Given the description of an element on the screen output the (x, y) to click on. 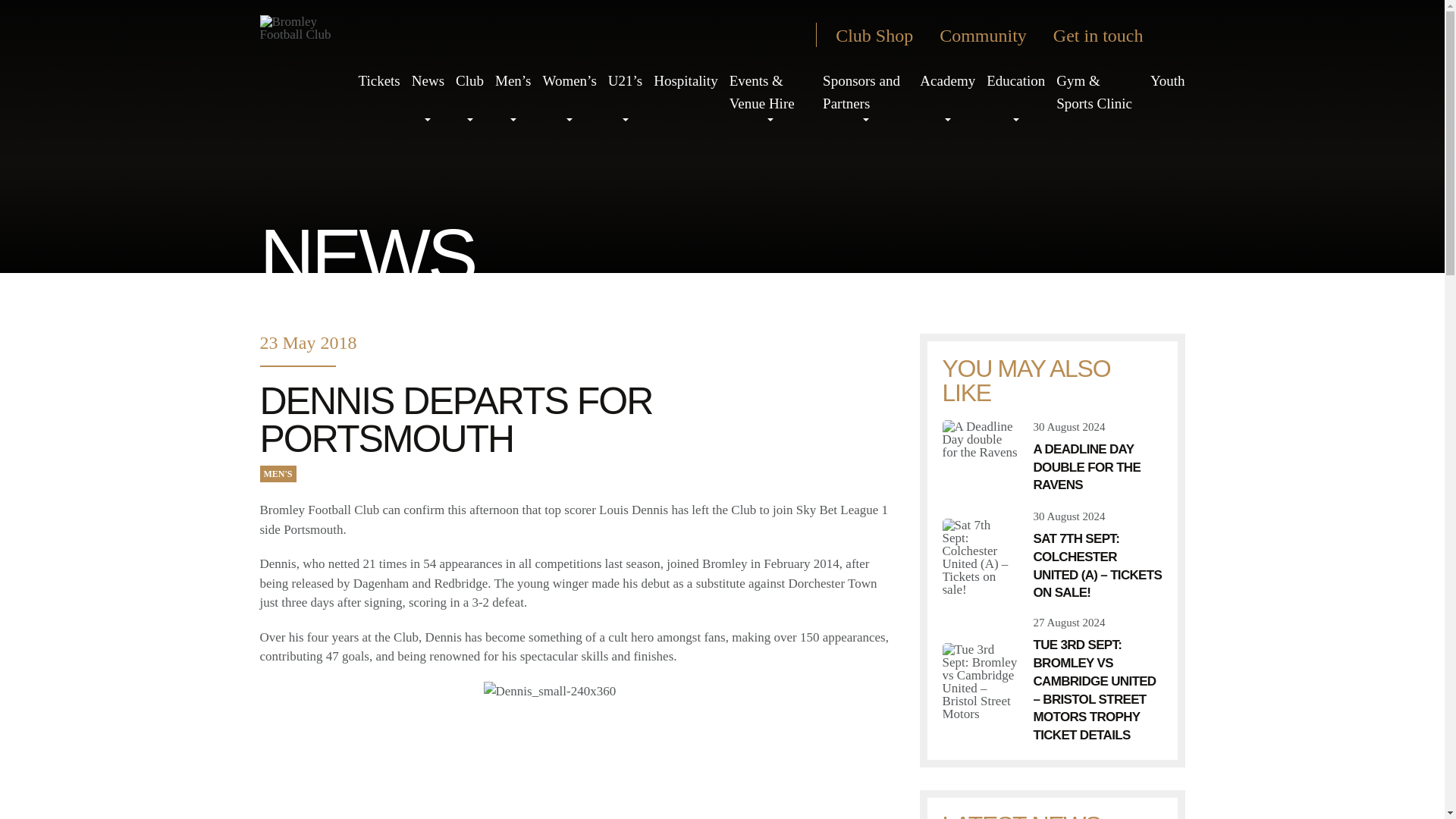
Get in touch (1097, 35)
Tickets (378, 80)
Twitter (679, 34)
Instagram (652, 34)
YouTube (762, 34)
Club (469, 80)
TikTok (734, 34)
Facebook (707, 34)
LinkedIn (788, 34)
Club Shop (873, 35)
